Given the description of an element on the screen output the (x, y) to click on. 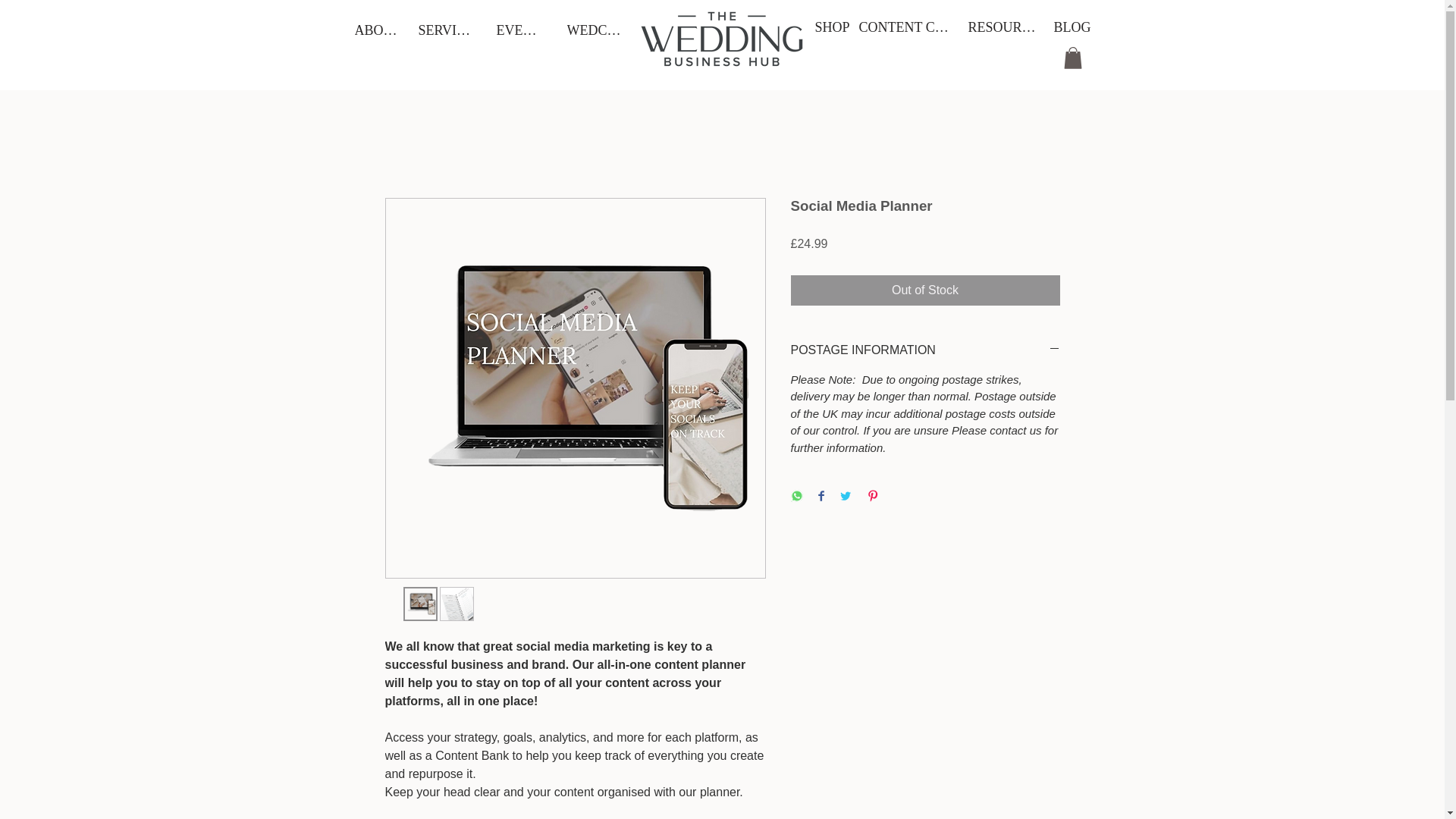
CONTENT CLUB (906, 27)
BLOG (1072, 27)
Out of Stock (924, 290)
RESOURCES (1005, 27)
ABOUT (376, 29)
SHOP (831, 27)
EVENTS (520, 29)
SERVICES (449, 29)
WEDCON (595, 29)
POSTAGE INFORMATION (924, 350)
